Given the description of an element on the screen output the (x, y) to click on. 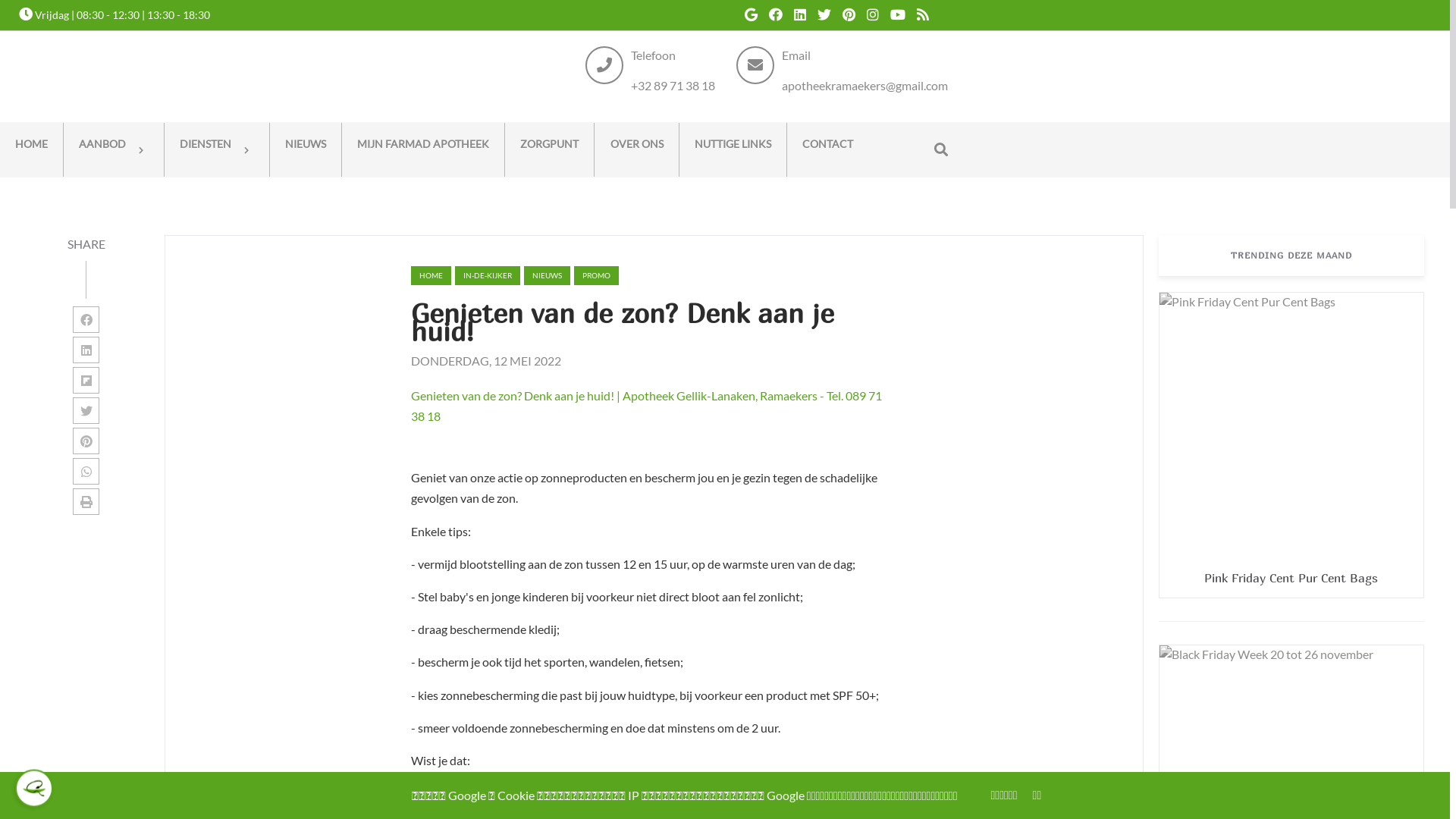
apotheekramaekers@gmail.com Element type: text (864, 85)
CONTACT Element type: text (827, 149)
HOME Element type: text (31, 149)
MIJN FARMAD APOTHEEK Element type: text (423, 149)
NUTTIGE LINKS Element type: text (732, 149)
OVER ONS Element type: text (636, 149)
NIEUWS Element type: text (547, 275)
DIENSTEN Element type: text (216, 149)
IN-DE-KIJKER Element type: text (487, 275)
HOME Element type: text (431, 275)
+32 89 71 38 18 Element type: text (672, 85)
NIEUWS Element type: text (305, 149)
AANBOD Element type: text (113, 149)
Pink Friday Cent Pur Cent Bags Element type: text (1290, 577)
ZORGPUNT Element type: text (549, 149)
PROMO Element type: text (596, 275)
